Given the description of an element on the screen output the (x, y) to click on. 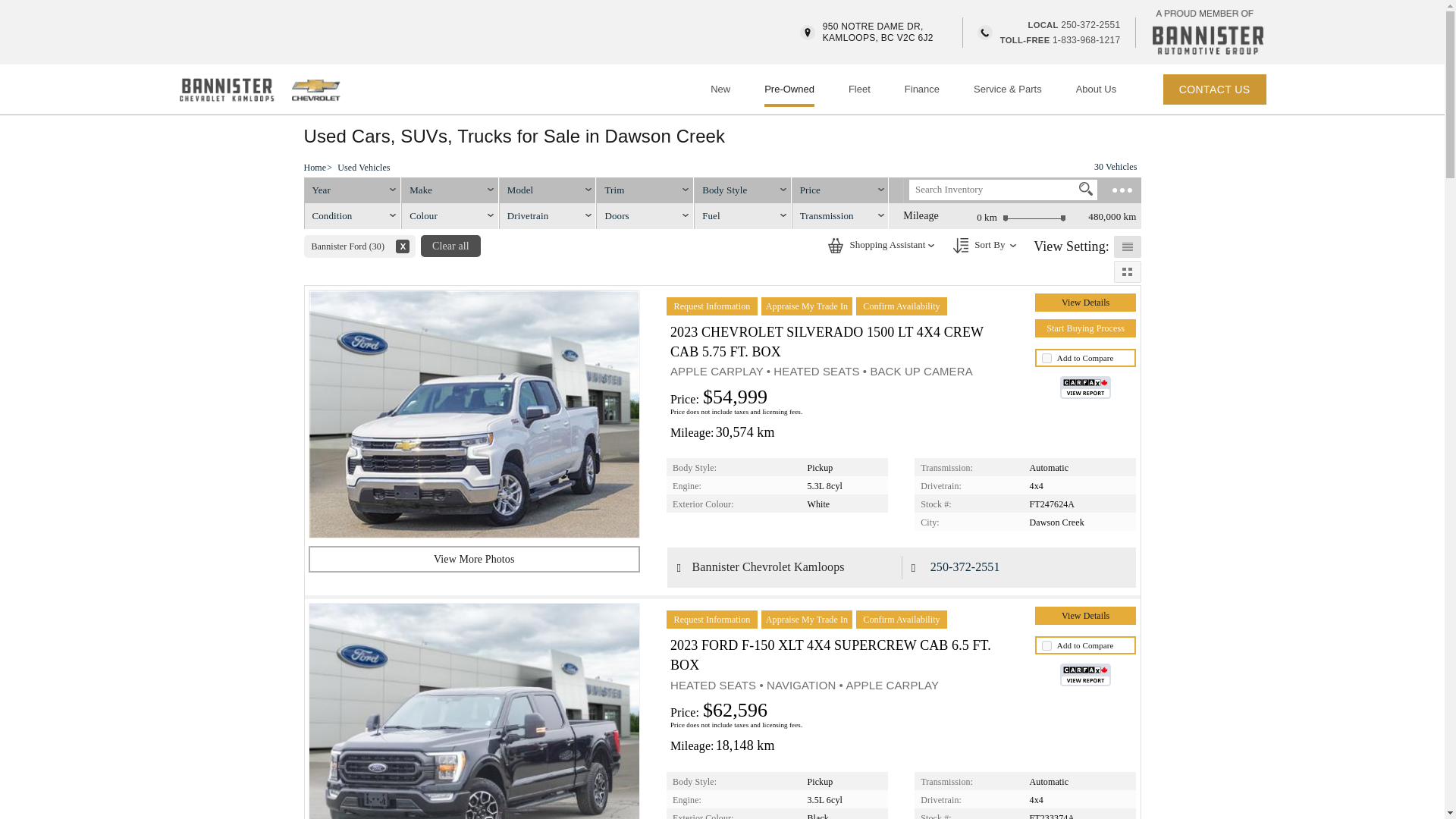
unchecked (1046, 645)
Grid View (1127, 271)
Finance (921, 89)
TOLL-FREE 1-833-968-1217 (1060, 39)
Shopping Assistant (835, 245)
LOCAL 250-372-2551 (866, 32)
Search (1073, 24)
unchecked (1085, 188)
About Us (1046, 357)
Pre-Owned (1095, 89)
Sort By (788, 89)
Listing View (960, 245)
